Given the description of an element on the screen output the (x, y) to click on. 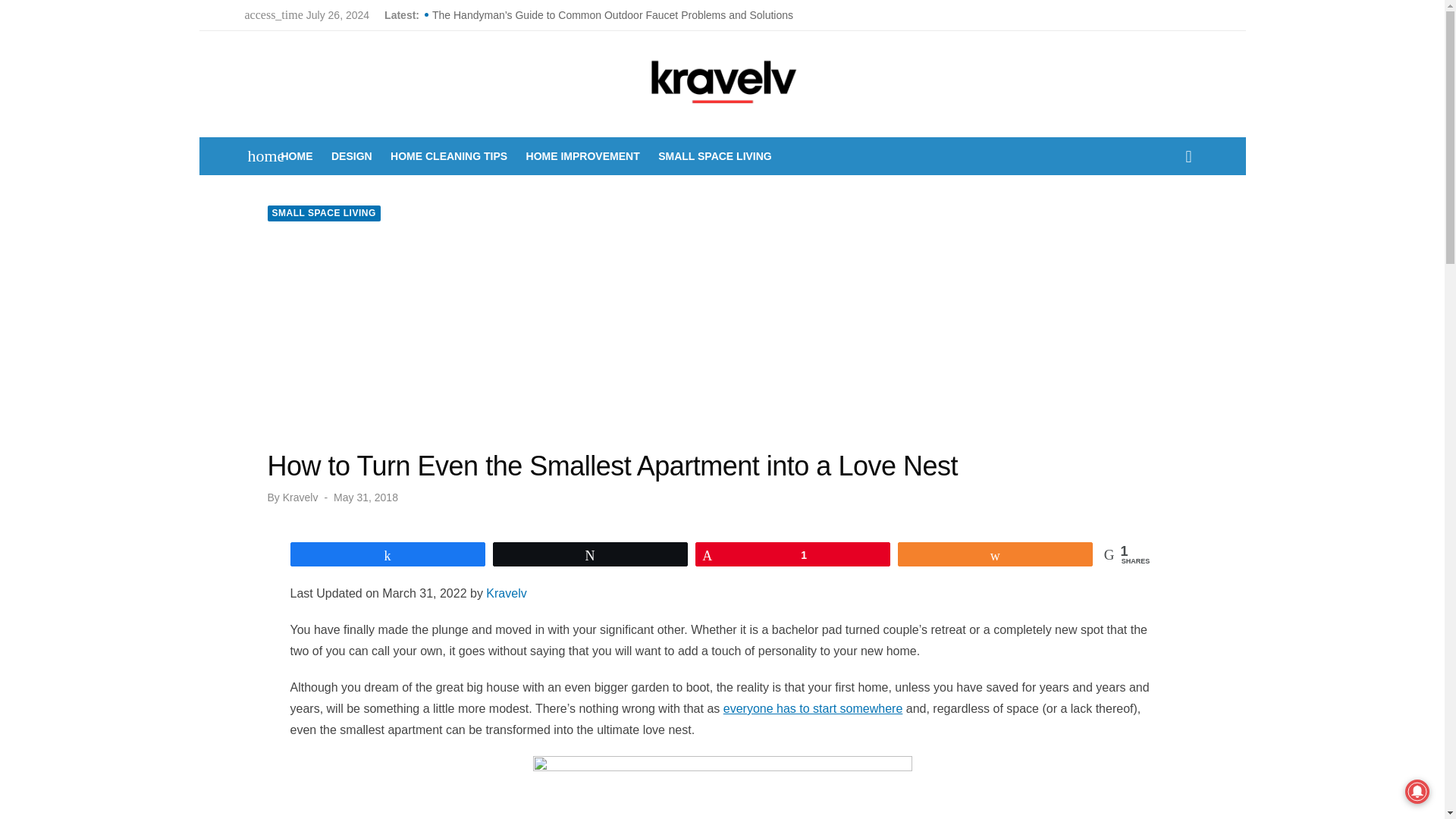
SMALL SPACE LIVING (323, 213)
1 (792, 553)
everyone has to start somewhere (812, 707)
Kravelv (300, 497)
HOME IMPROVEMENT (582, 156)
Kravelv (505, 593)
Small Space Living (714, 156)
HOME CLEANING TIPS (449, 156)
SMALL SPACE LIVING (714, 156)
Home Improvement Tips (582, 156)
HOME (296, 156)
home (258, 155)
DESIGN (352, 156)
Kravelv (296, 156)
